Given the description of an element on the screen output the (x, y) to click on. 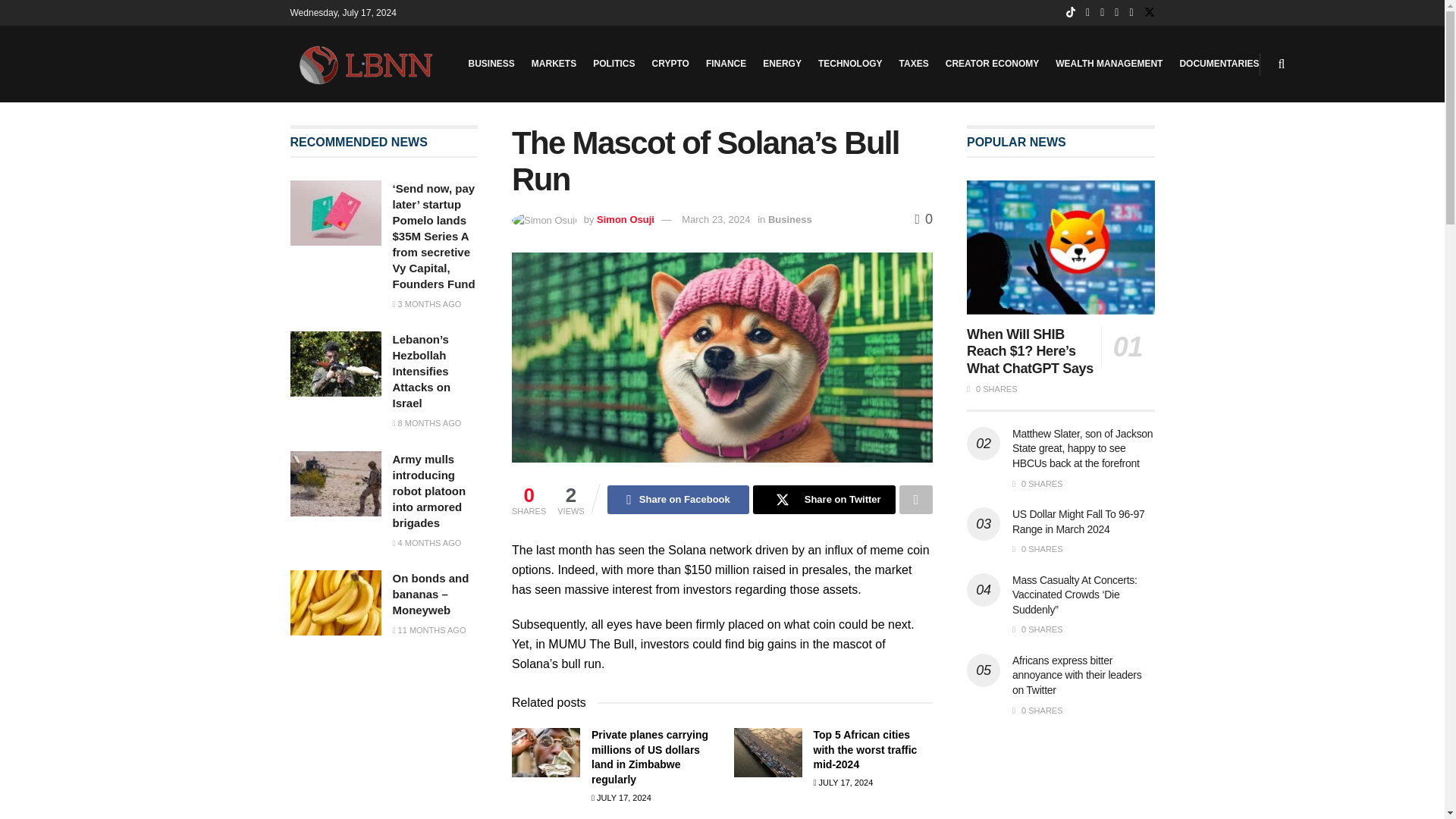
CREATOR ECONOMY (991, 63)
WEALTH MANAGEMENT (1108, 63)
JULY 17, 2024 (620, 797)
March 23, 2024 (715, 219)
DOCUMENTARIES (1219, 63)
0 (923, 218)
Simon Osuji (624, 219)
Business (790, 219)
Share on Twitter (823, 499)
Share on Facebook (678, 499)
